Given the description of an element on the screen output the (x, y) to click on. 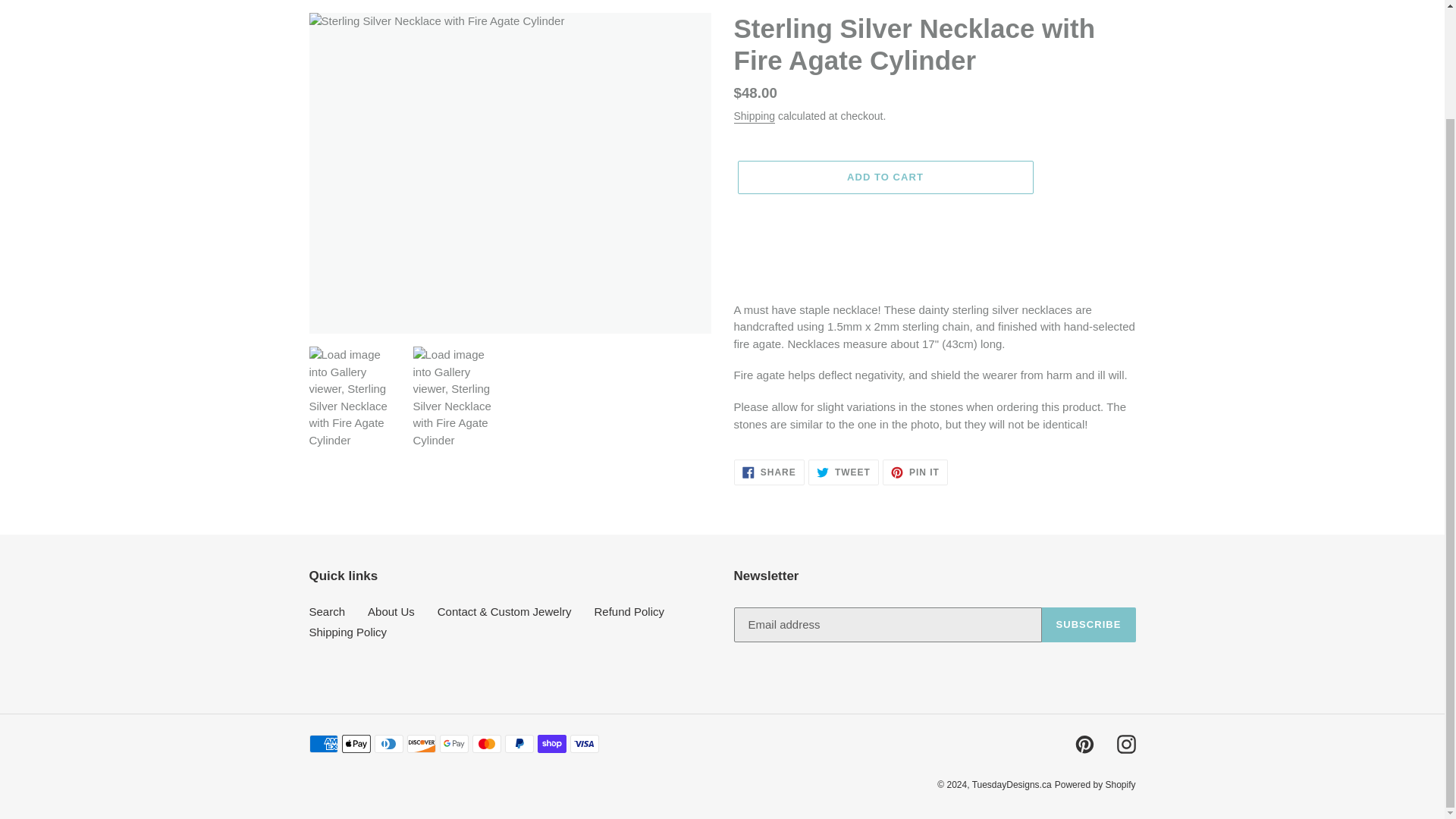
Shipping (754, 116)
